Given the description of an element on the screen output the (x, y) to click on. 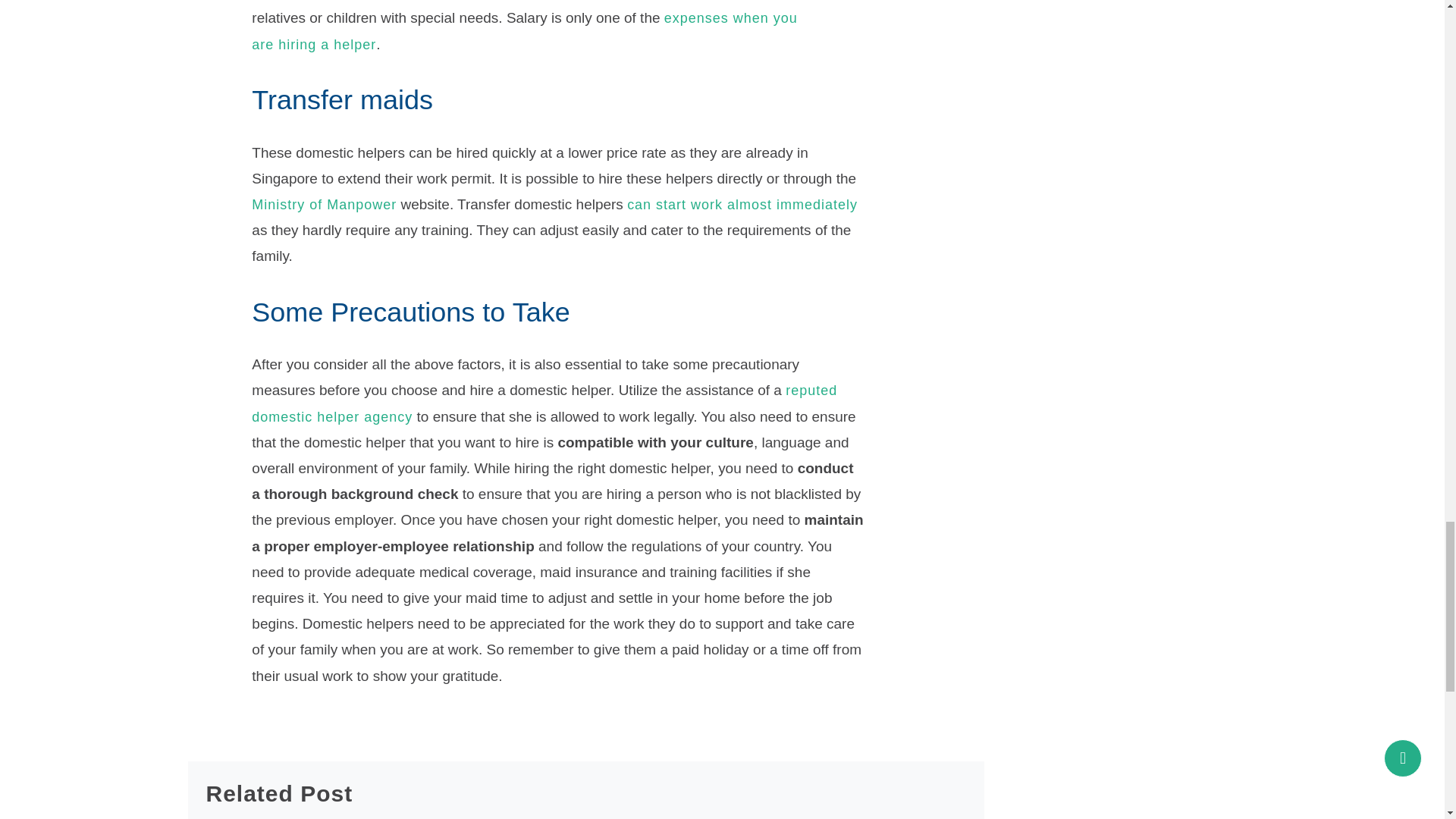
expenses when you are hiring a helper (523, 30)
reputed domestic helper agency (544, 403)
Ministry of Manpower (323, 204)
can start work almost immediately (742, 204)
